Given the description of an element on the screen output the (x, y) to click on. 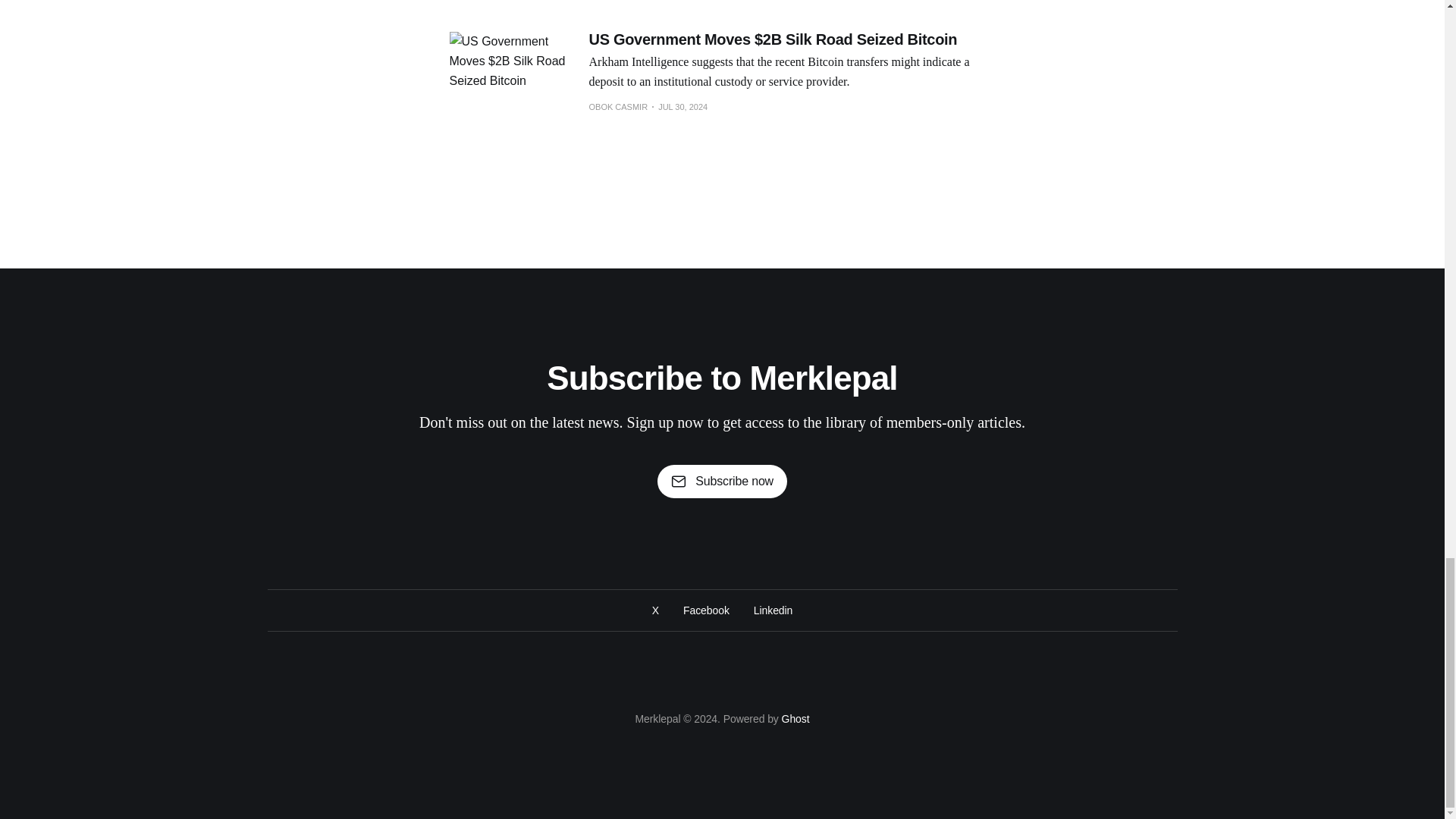
Facebook (705, 610)
Subscribe now (722, 481)
Linkedin (773, 610)
Ghost (795, 718)
